Given the description of an element on the screen output the (x, y) to click on. 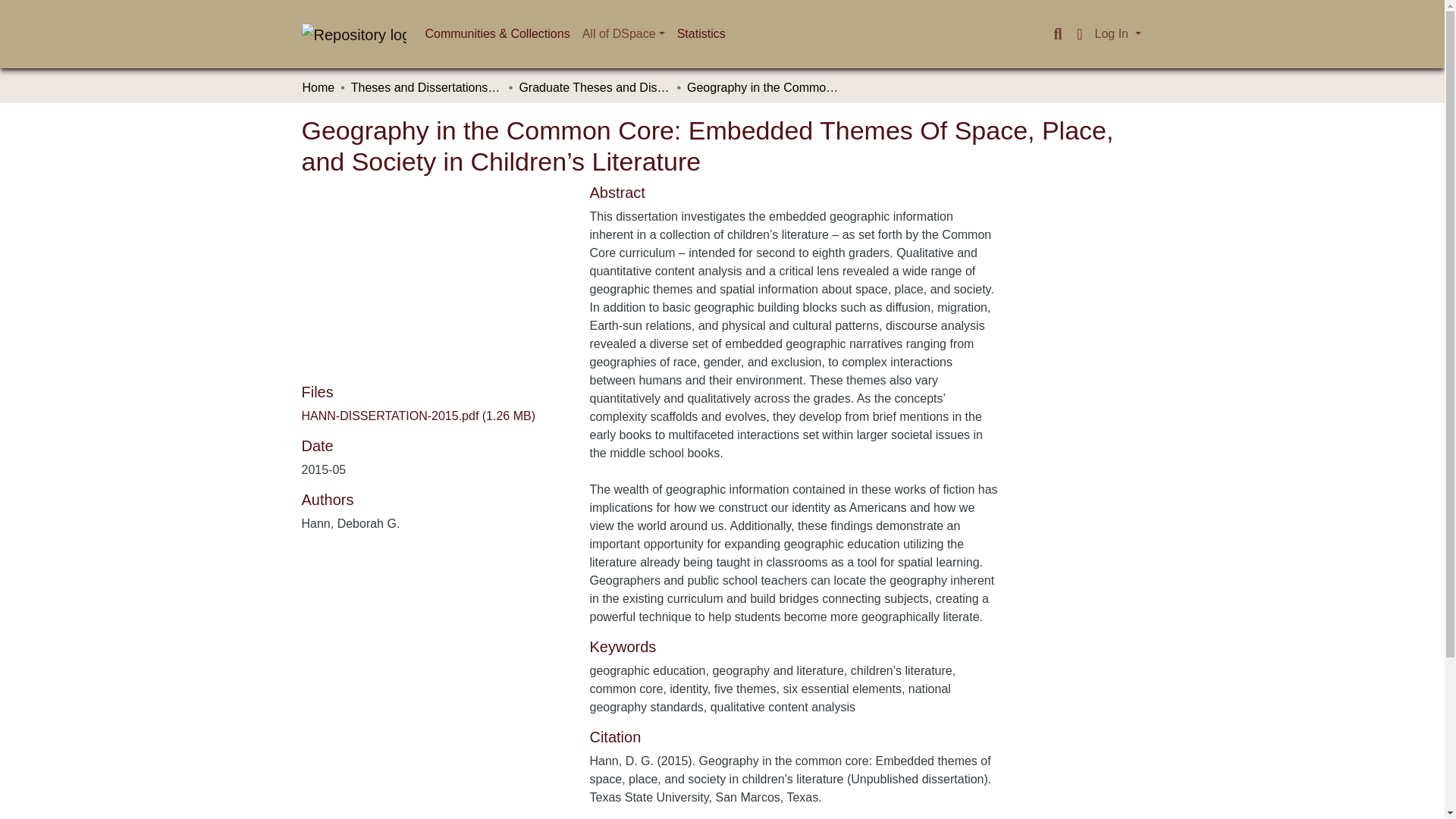
Statistics (701, 33)
Theses and Dissertations, Capstones, and Directed Research (426, 87)
Log In (1117, 33)
Home (317, 87)
Statistics (701, 33)
Language switch (1079, 34)
All of DSpace (623, 33)
Search (1057, 34)
Graduate Theses and Dissertations (593, 87)
